Given the description of an element on the screen output the (x, y) to click on. 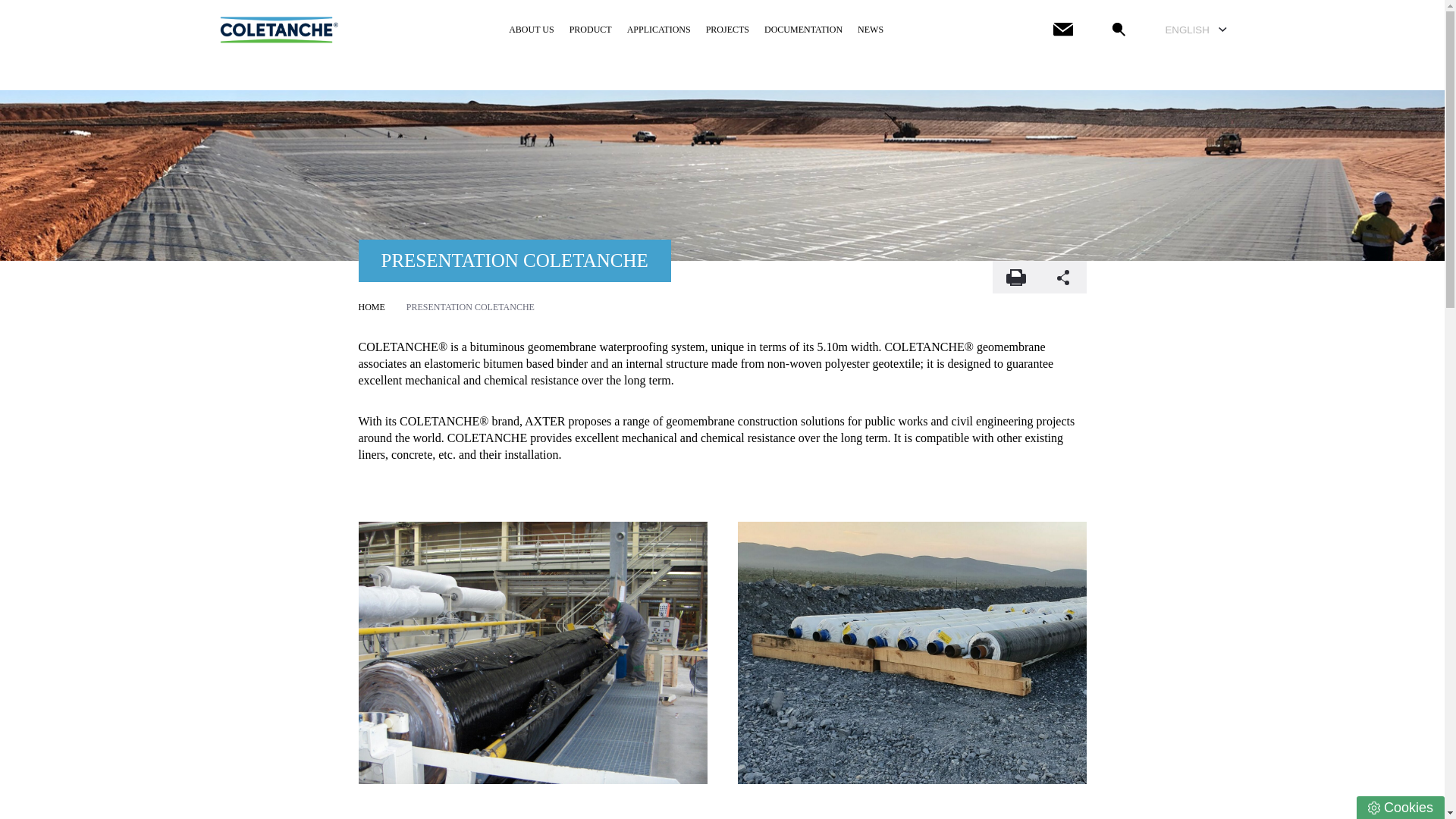
ENGLISH (1194, 30)
HPIM1413 (532, 652)
HOME (371, 307)
Coletanche (278, 29)
